Given the description of an element on the screen output the (x, y) to click on. 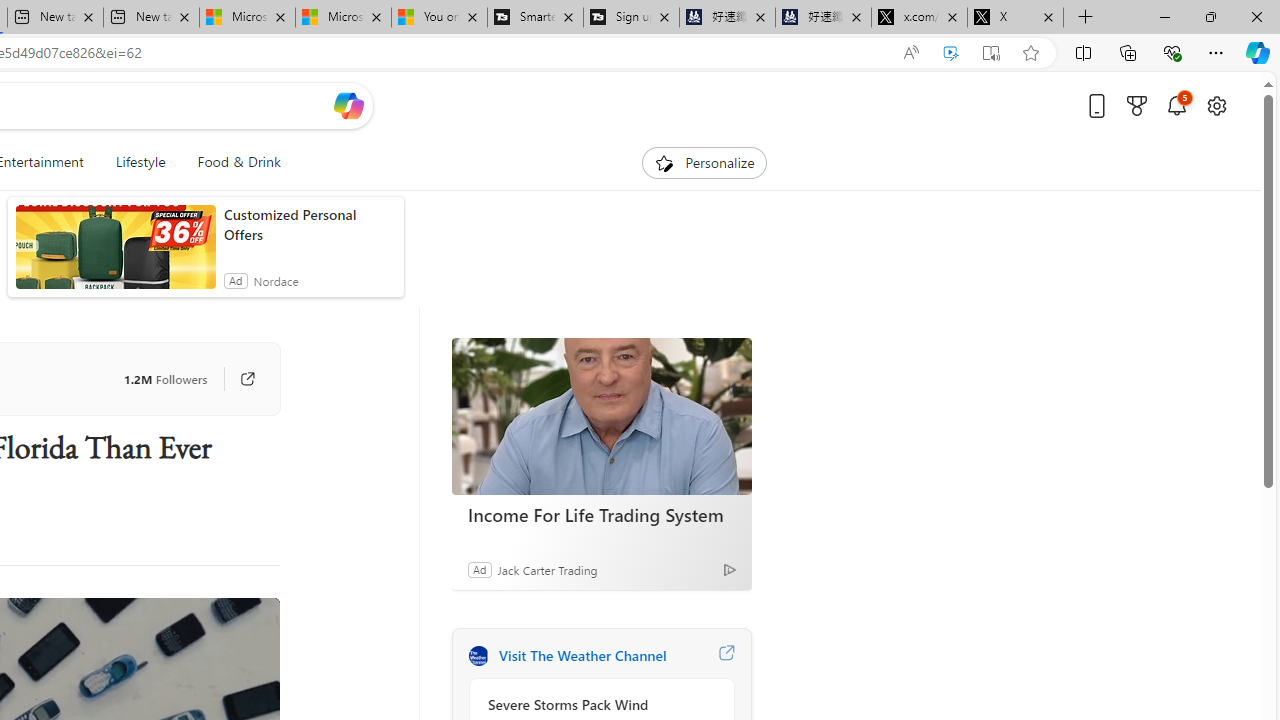
Visit The Weather Channel website (726, 655)
Personalize (703, 162)
Microsoft Start Sports (247, 17)
Lifestyle (139, 162)
Ad (479, 569)
X (1015, 17)
Income For Life Trading System (601, 515)
anim-content (115, 255)
